Given the description of an element on the screen output the (x, y) to click on. 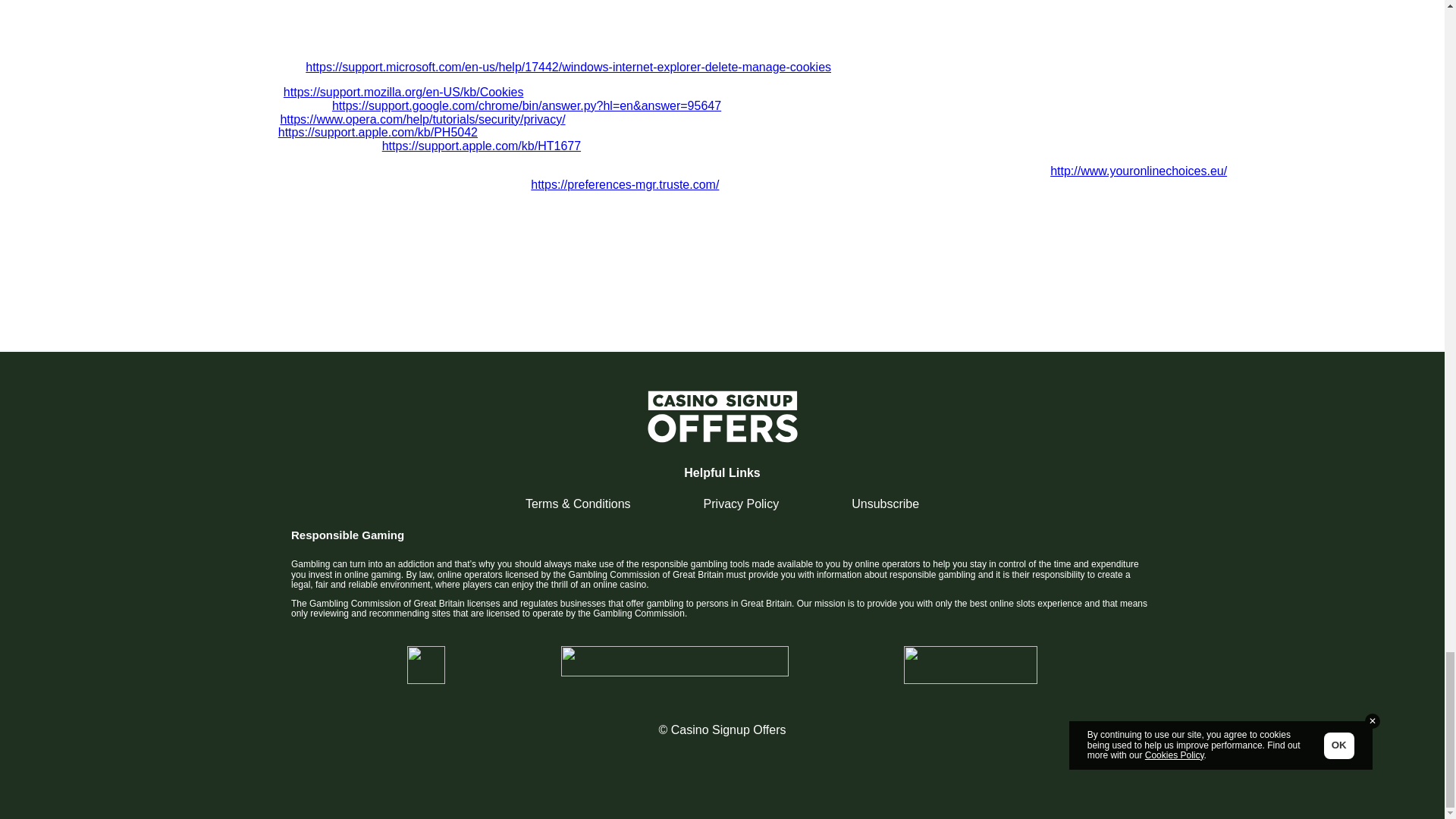
Privacy Policy (740, 503)
Unsubscribe (884, 503)
